Given the description of an element on the screen output the (x, y) to click on. 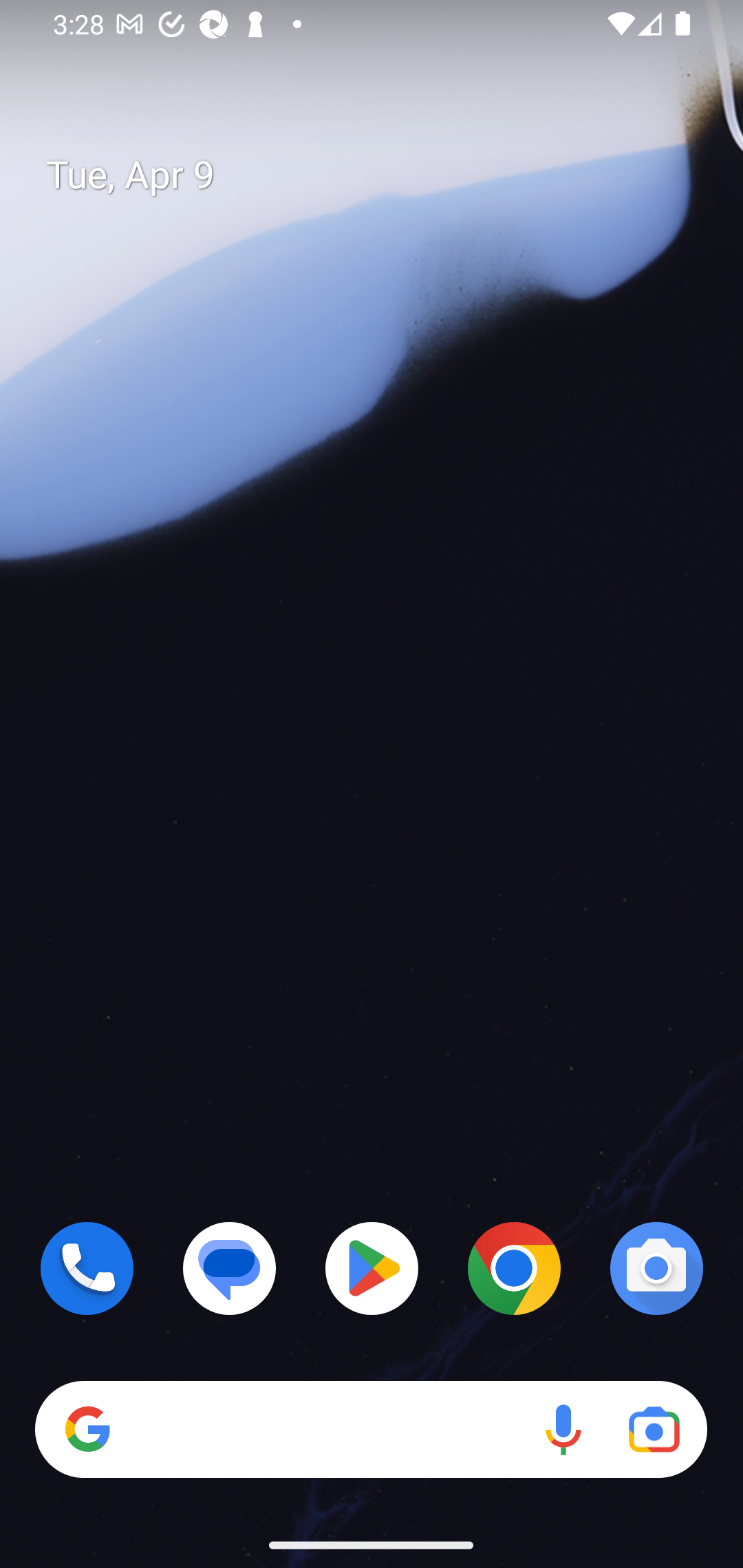
Tue, Apr 9 (386, 175)
Phone (86, 1268)
Messages (229, 1268)
Play Store (371, 1268)
Chrome (513, 1268)
Camera (656, 1268)
Search Voice search Google Lens (370, 1429)
Voice search (562, 1429)
Google Lens (653, 1429)
